Given the description of an element on the screen output the (x, y) to click on. 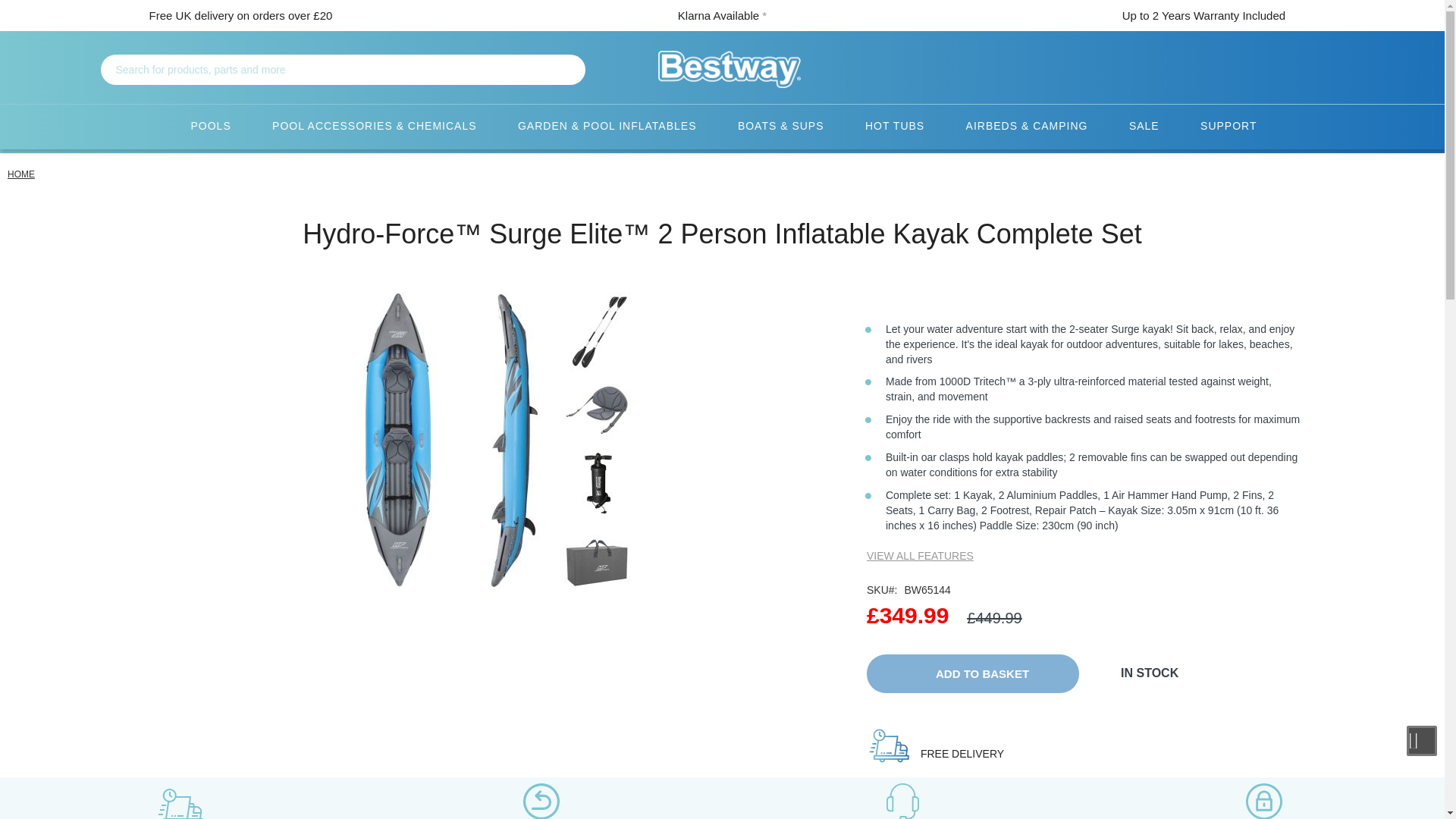
Up to 2 Years Warranty Included (1203, 15)
Go to Home Page (20, 173)
Add to Basket (972, 673)
Bestway Store (729, 69)
Klarna Available (718, 15)
My Cart (1204, 69)
POOLS (209, 126)
Bestway Store (722, 69)
